Given the description of an element on the screen output the (x, y) to click on. 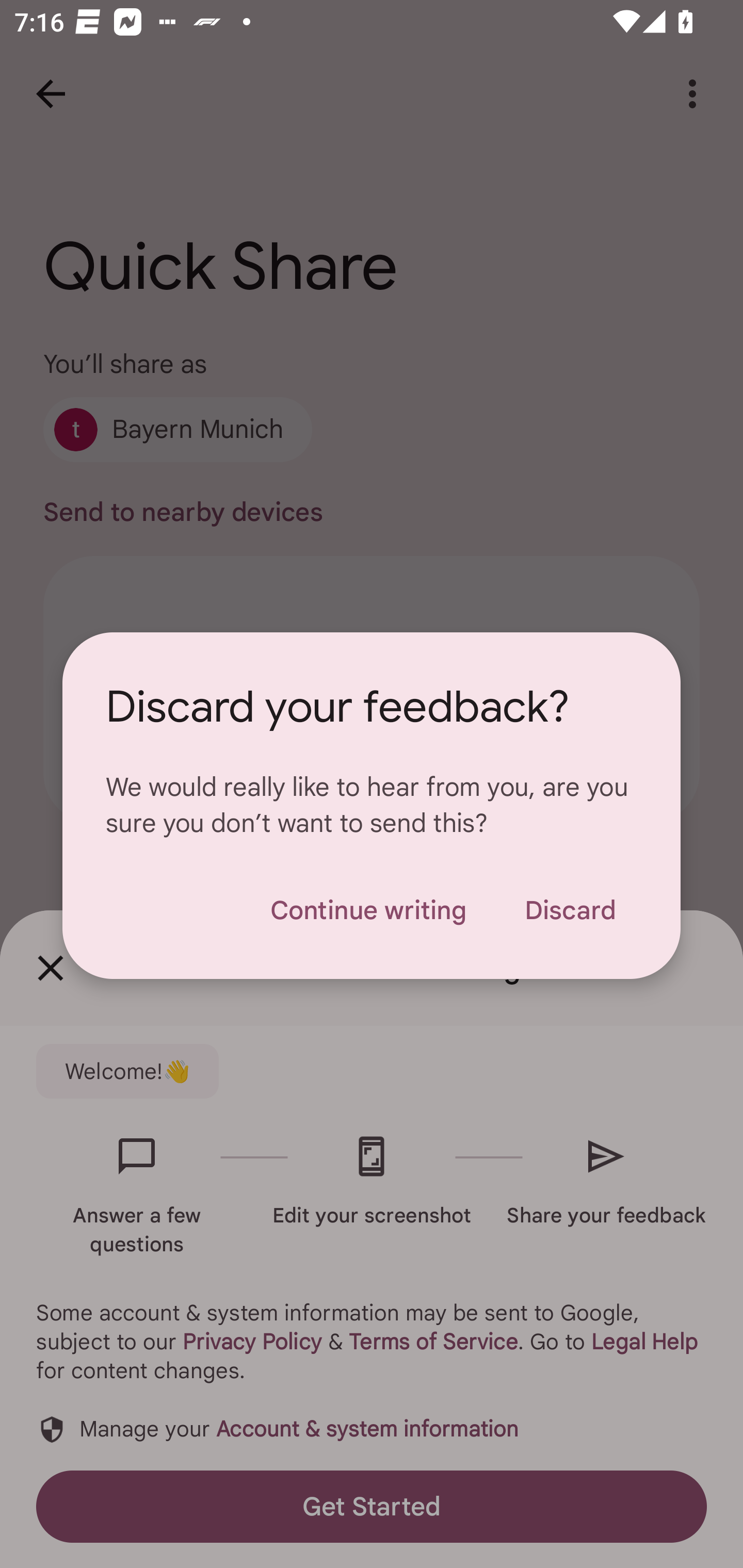
Continue writing (368, 910)
Discard (569, 910)
